Given the description of an element on the screen output the (x, y) to click on. 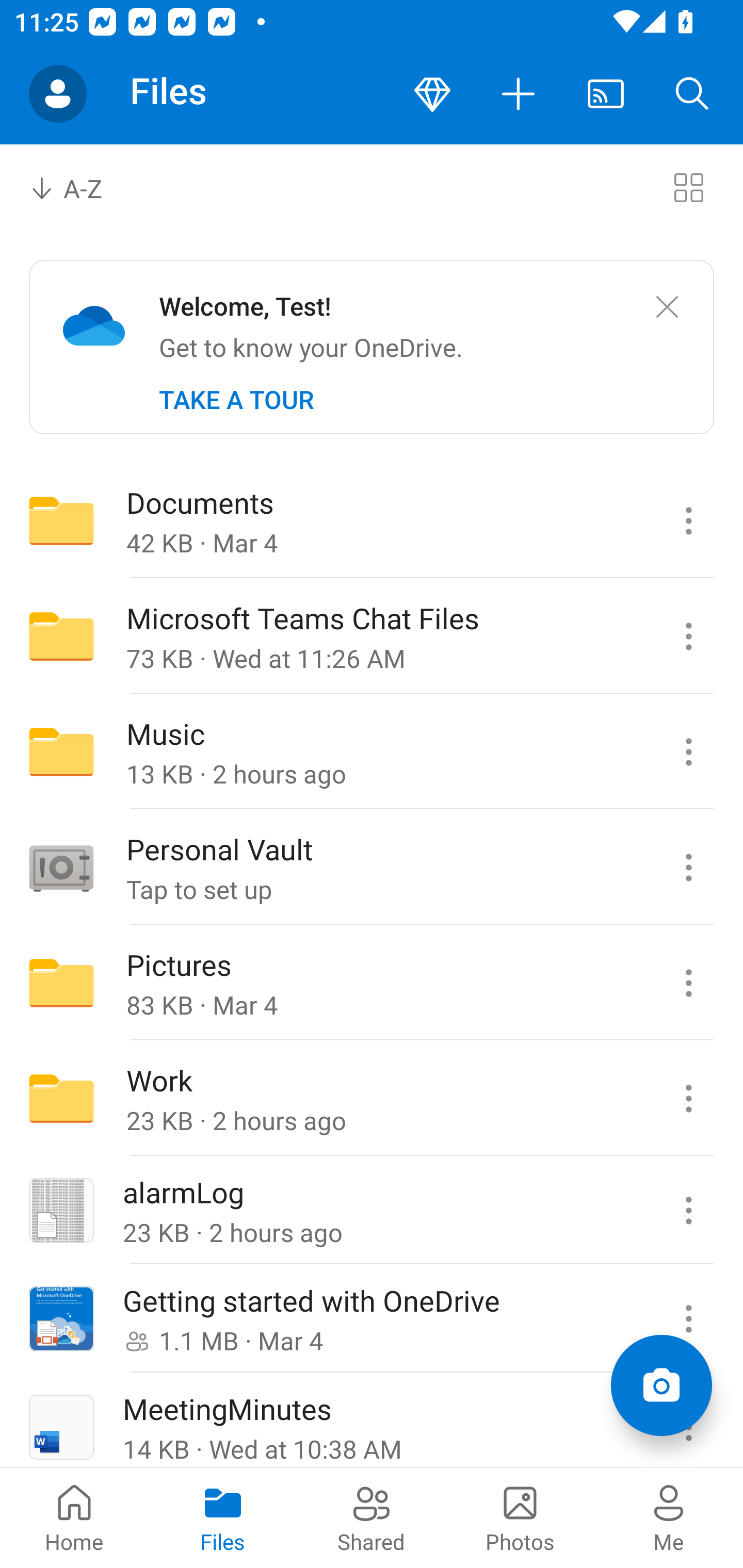
Account switcher (57, 93)
Cast. Disconnected (605, 93)
Premium button (432, 93)
More actions button (518, 93)
Search button (692, 93)
A-Z Sort by combo box, sort by name, A to Z (80, 187)
Switch to tiles view (688, 187)
Close (667, 307)
TAKE A TOUR (236, 399)
Folder Documents 42 KB · Mar 4 Documents commands (371, 520)
Documents commands (688, 520)
Microsoft Teams Chat Files commands (688, 636)
Folder Music 13 KB · 2 hours ago Music commands (371, 751)
Music commands (688, 751)
Personal Vault commands (688, 867)
Folder Pictures 83 KB · Mar 4 Pictures commands (371, 983)
Pictures commands (688, 983)
Folder Work 23 KB · 2 hours ago Work commands (371, 1099)
Work commands (688, 1099)
alarmLog commands (688, 1211)
Getting started with OneDrive commands (688, 1319)
Add items Scan (660, 1385)
Home pivot Home (74, 1517)
Shared pivot Shared (371, 1517)
Photos pivot Photos (519, 1517)
Me pivot Me (668, 1517)
